Given the description of an element on the screen output the (x, y) to click on. 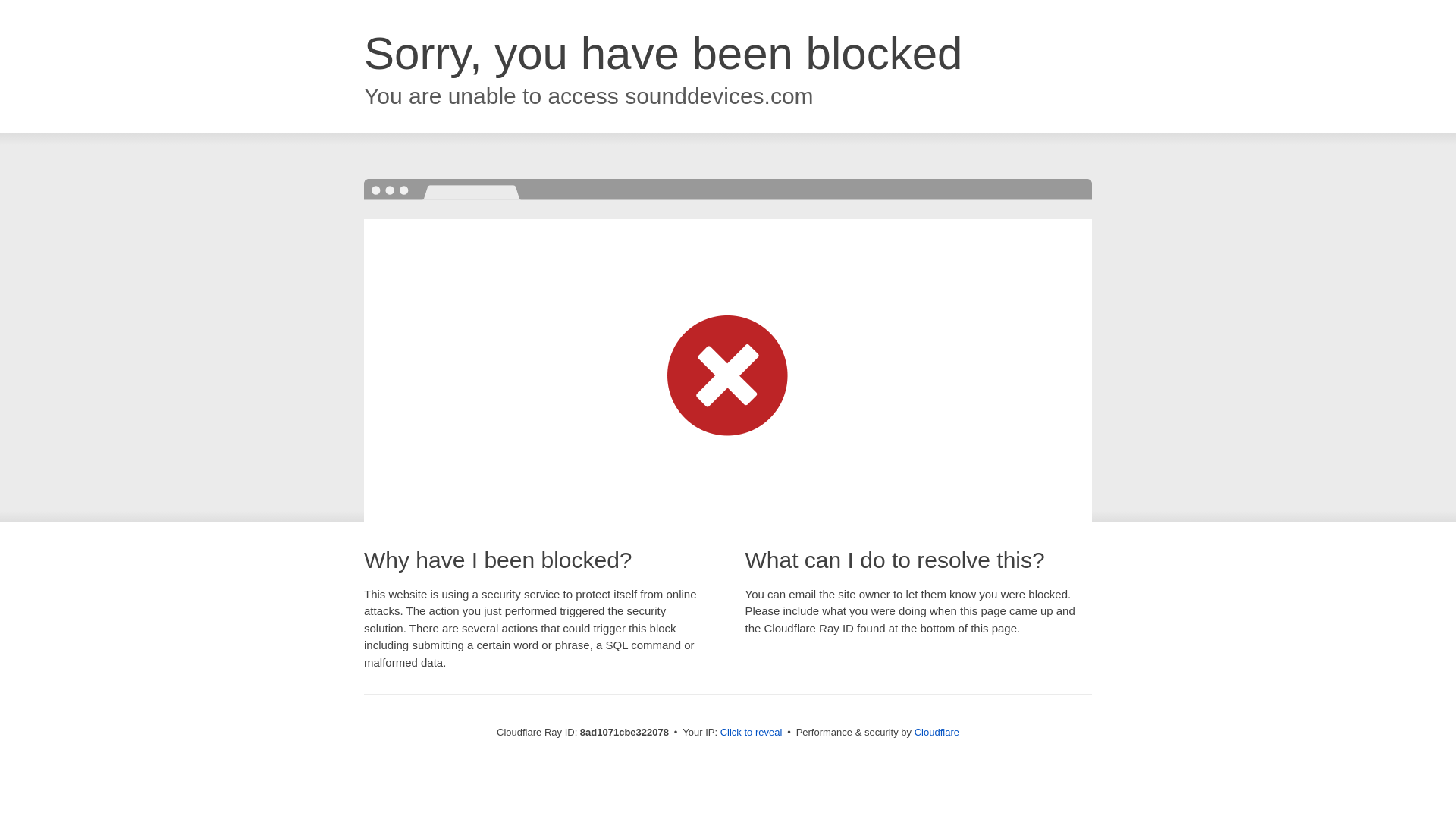
Cloudflare (936, 731)
Click to reveal (751, 732)
